Given the description of an element on the screen output the (x, y) to click on. 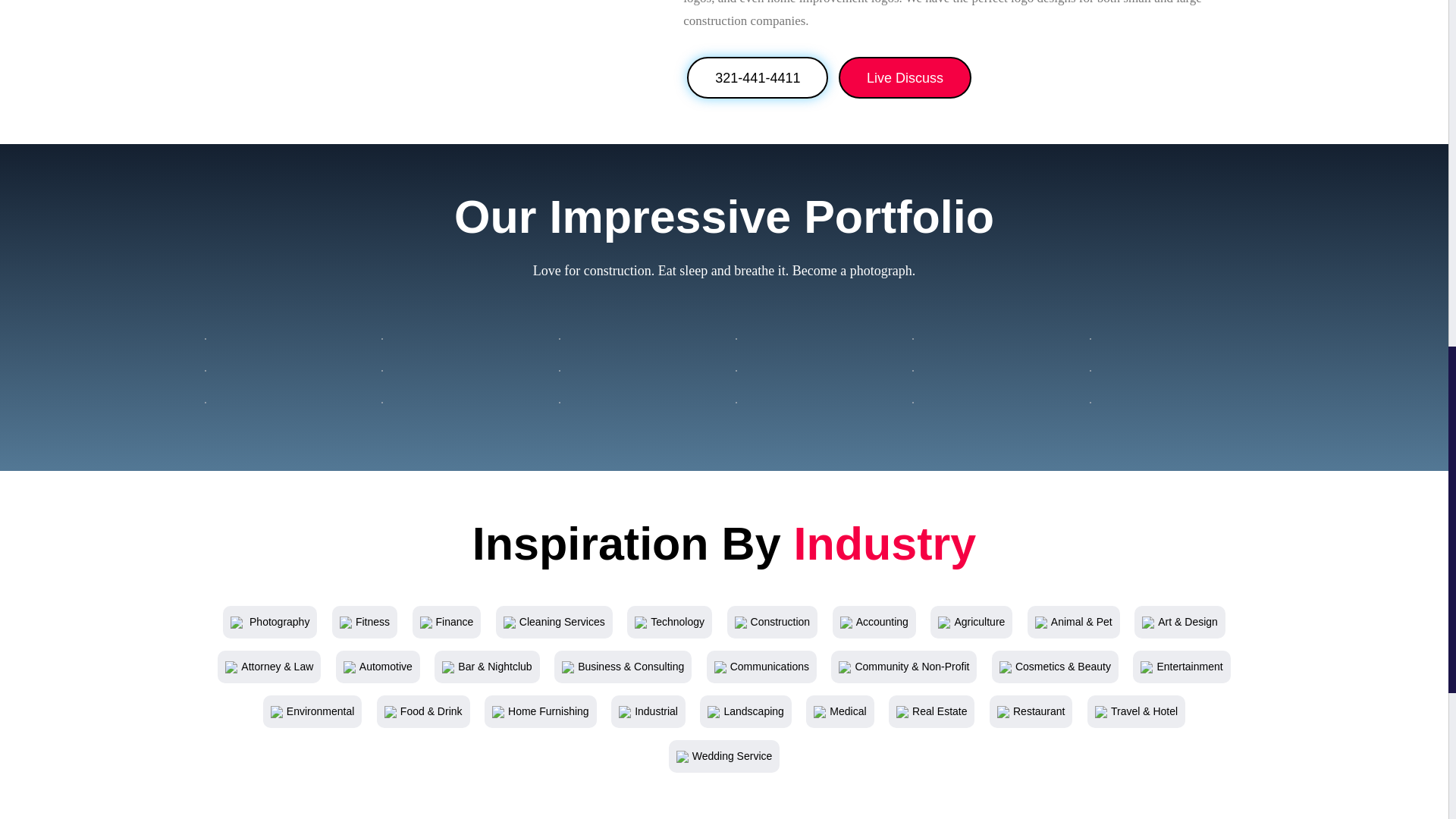
Agriculture (970, 621)
Photography (269, 621)
Technology (669, 621)
Accounting (874, 621)
321-441-4411 (757, 77)
Fitness (364, 621)
Construction (772, 621)
Finance (447, 621)
Cleaning Services (554, 621)
Live Discuss (904, 77)
